Given the description of an element on the screen output the (x, y) to click on. 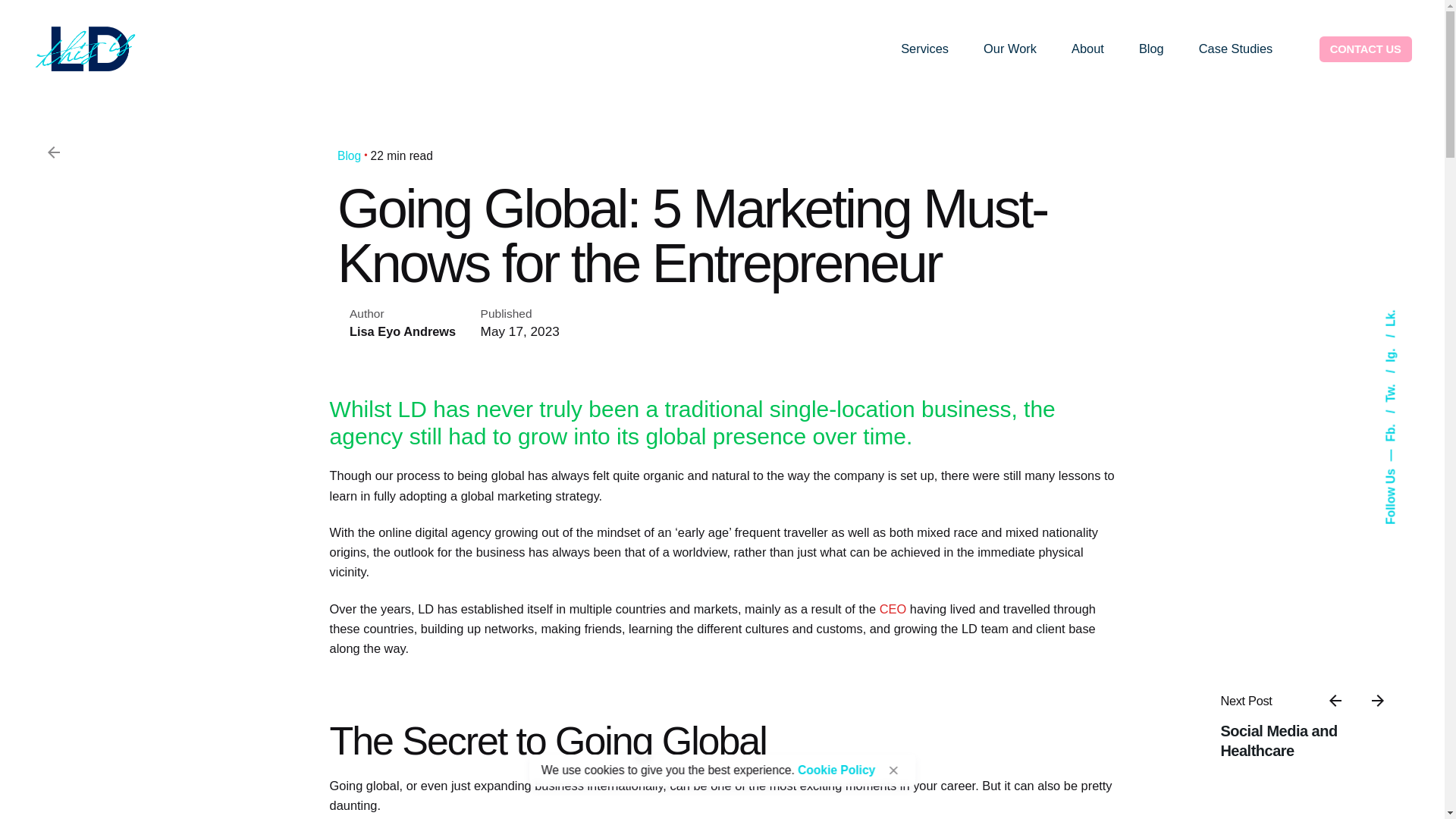
Services (924, 49)
Case Studies (1235, 49)
Our Work (1010, 49)
CONTACT US (1365, 49)
Lk. (1392, 315)
Blog (1150, 49)
Fb. (1399, 416)
Tw. (1400, 376)
Ig. (1398, 340)
About (1087, 49)
